Given the description of an element on the screen output the (x, y) to click on. 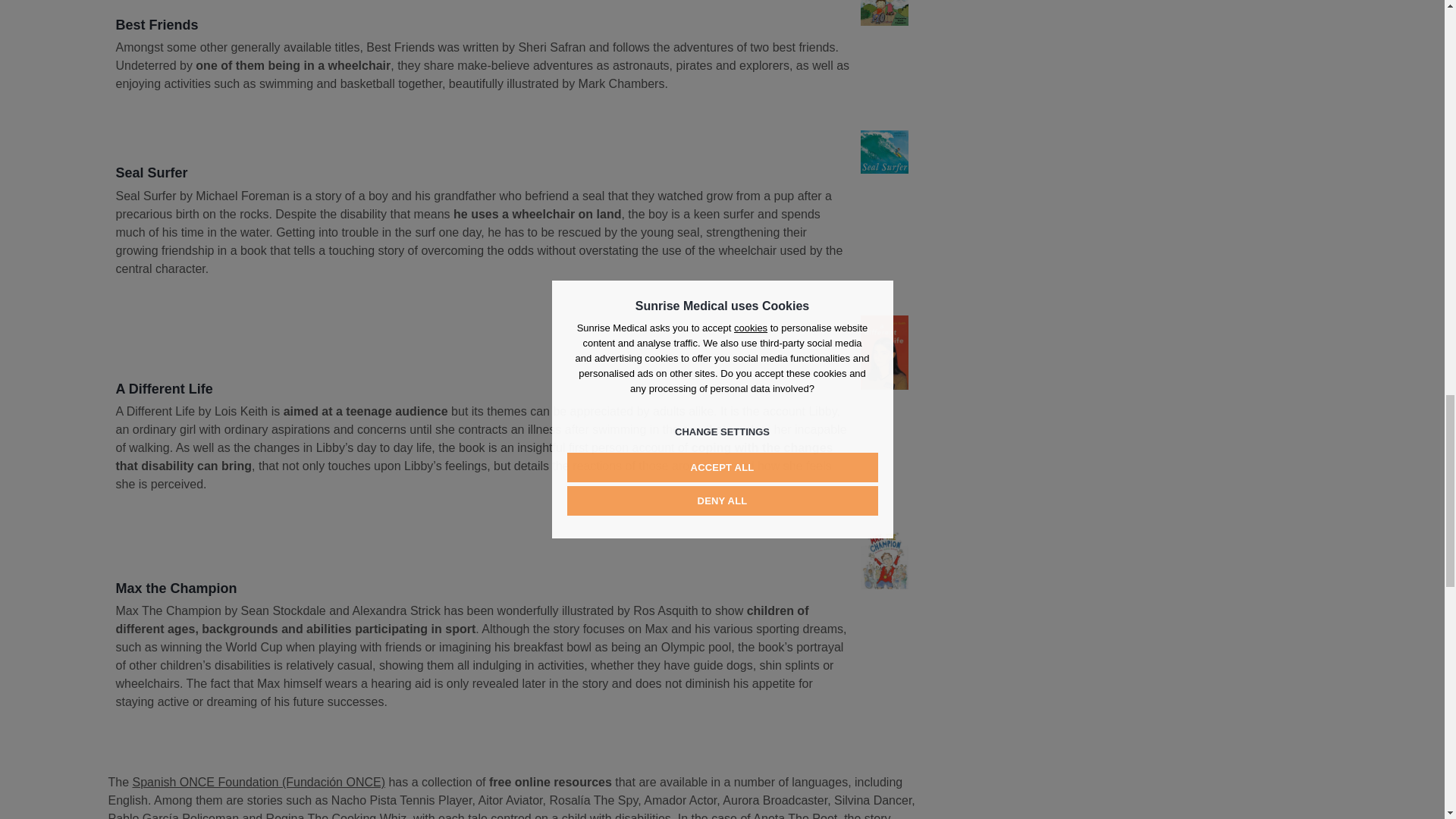
a-different-life.jpg (883, 352)
seal-surfer.jpg (883, 151)
best-friends.jpg (883, 12)
max-the-champion.jpg (883, 559)
